Given the description of an element on the screen output the (x, y) to click on. 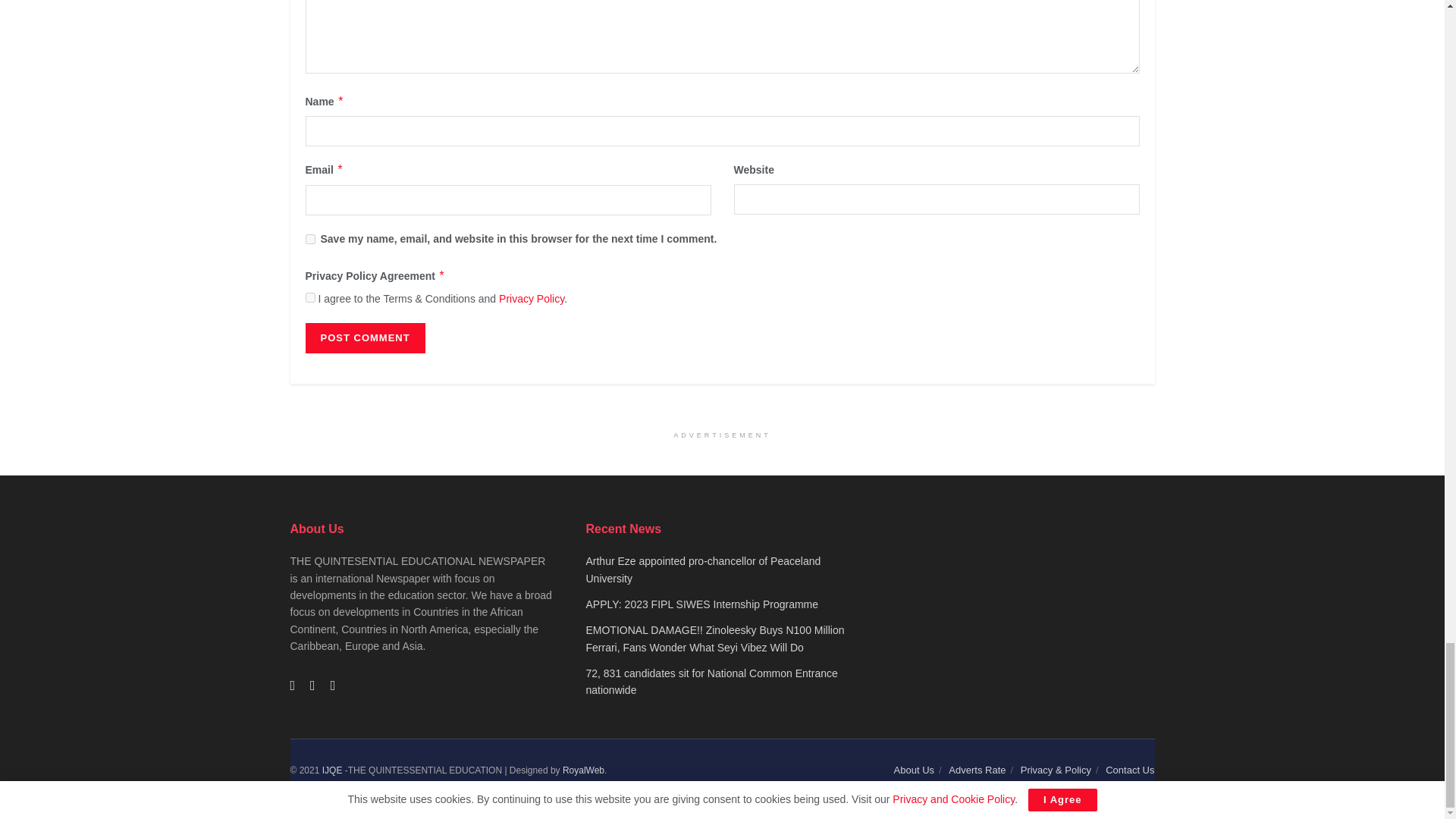
on (309, 297)
Post Comment (364, 337)
RoyalWeb (583, 769)
yes (309, 239)
THE QUINTESSENTIAL EDUCATION (331, 769)
